Given the description of an element on the screen output the (x, y) to click on. 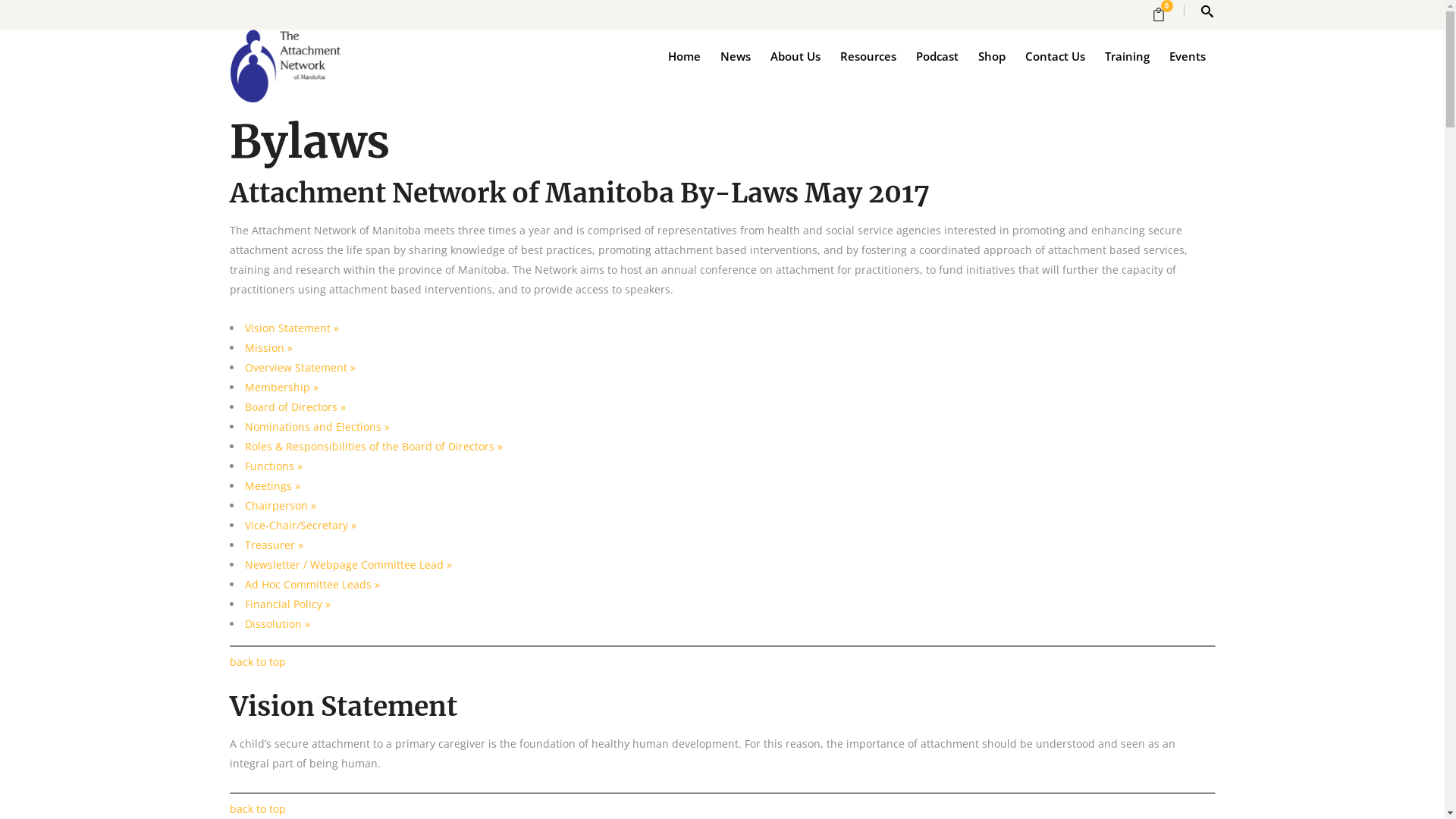
News Element type: text (734, 55)
Training Element type: text (1127, 55)
Contact Us Element type: text (1054, 55)
0 Element type: text (1163, 15)
Events Element type: text (1186, 55)
back to top Element type: text (257, 661)
Podcast Element type: text (936, 55)
back to top Element type: text (257, 808)
Shop Element type: text (990, 55)
Resources Element type: text (867, 55)
About Us Element type: text (794, 55)
Home Element type: text (684, 55)
